Given the description of an element on the screen output the (x, y) to click on. 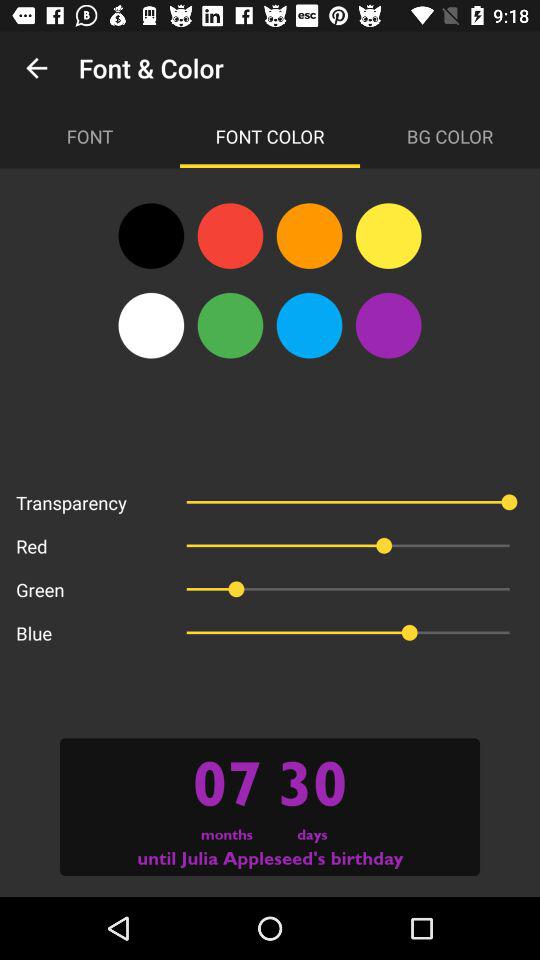
open the item next to the font & color (36, 68)
